Given the description of an element on the screen output the (x, y) to click on. 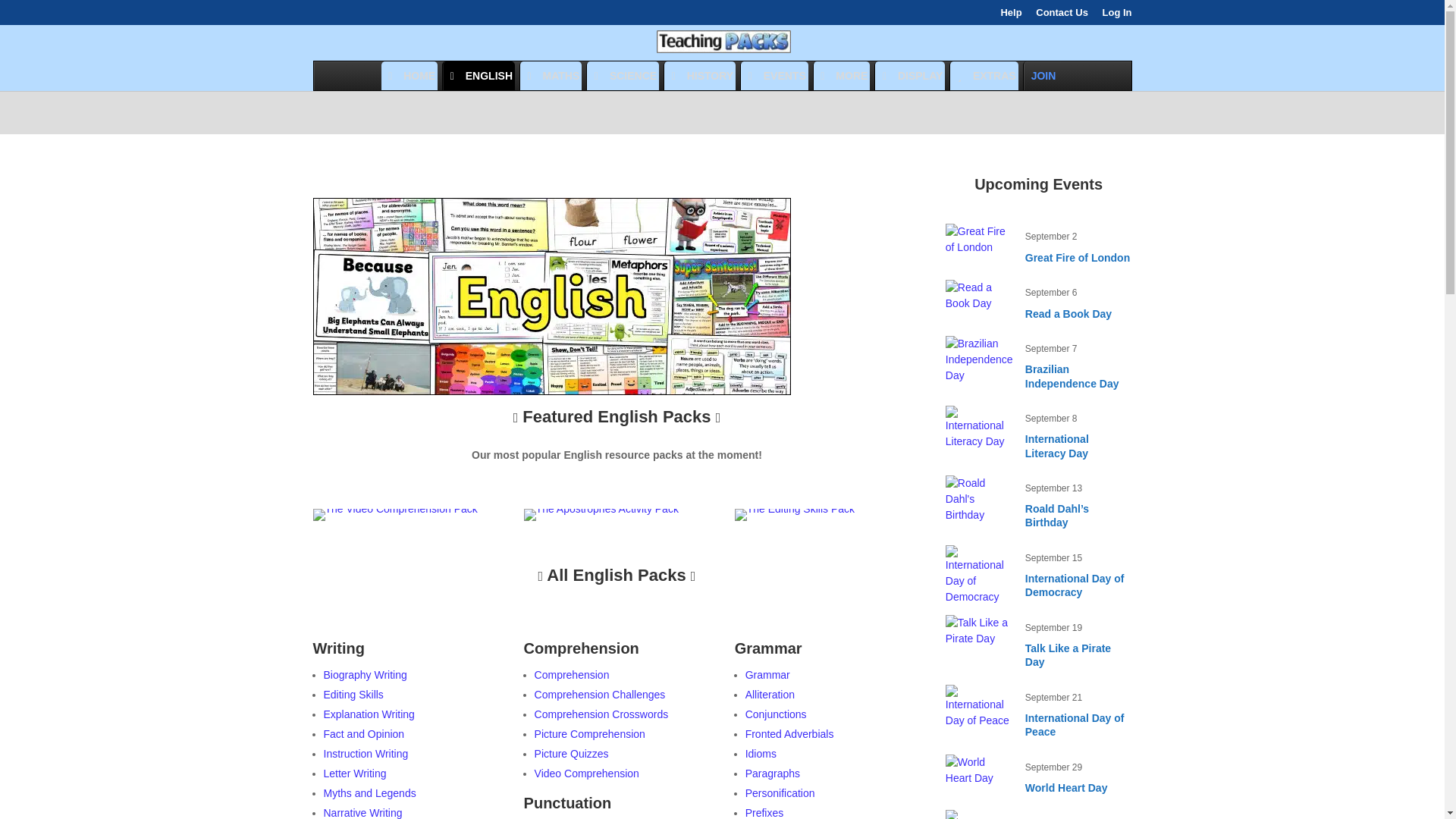
Video-Comprehension-ComingSoon (395, 508)
EditingSkills-ComingSoon (794, 508)
Log In (1117, 16)
Help (1011, 16)
Subject-English-PackHeaderPreviews (551, 390)
Apostrophes-ComingSoon (601, 514)
Contact Us (1061, 16)
HOME (409, 75)
ENGLISH (478, 75)
